Given the description of an element on the screen output the (x, y) to click on. 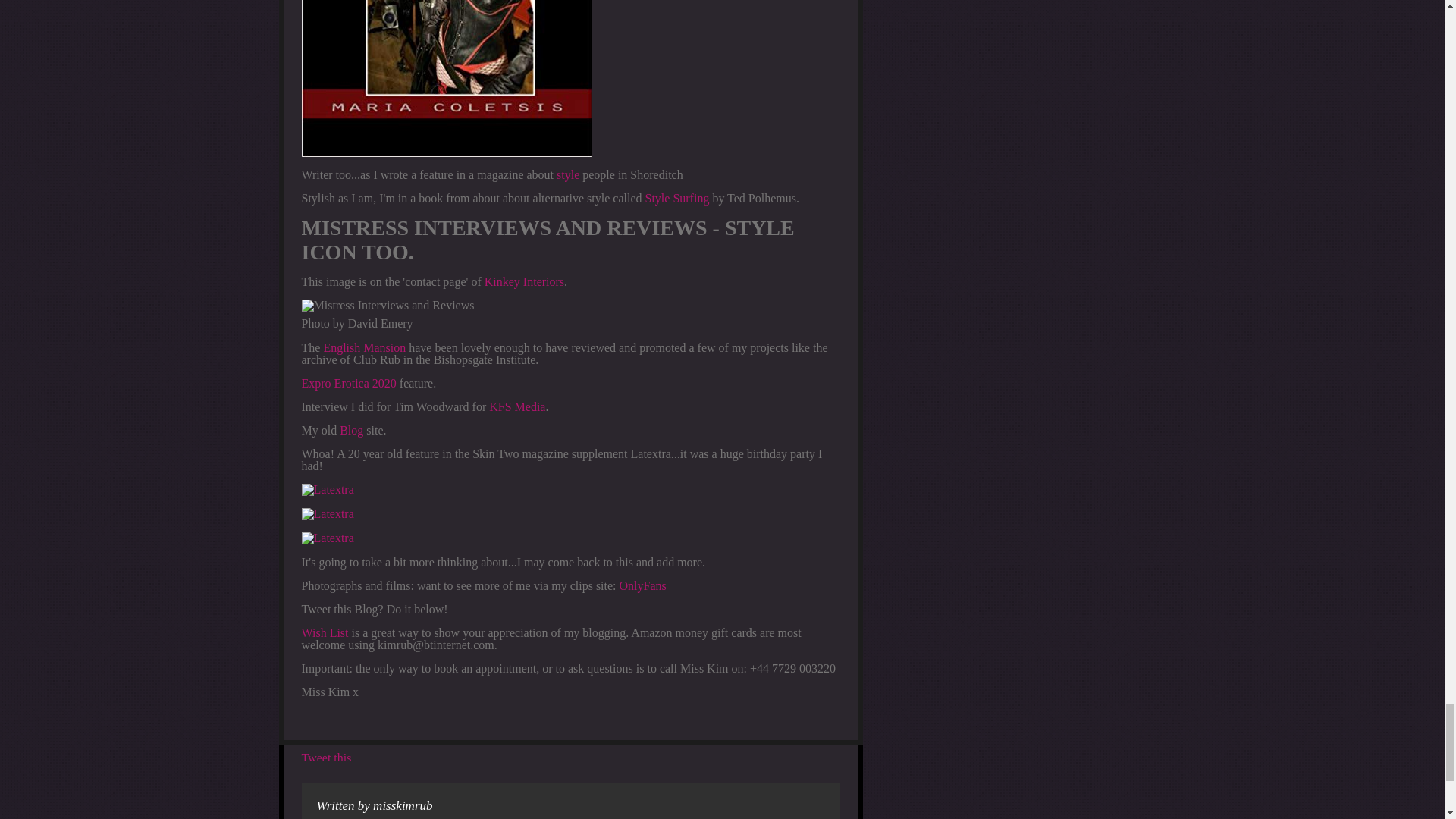
Posts by misskimrub (402, 805)
